Given the description of an element on the screen output the (x, y) to click on. 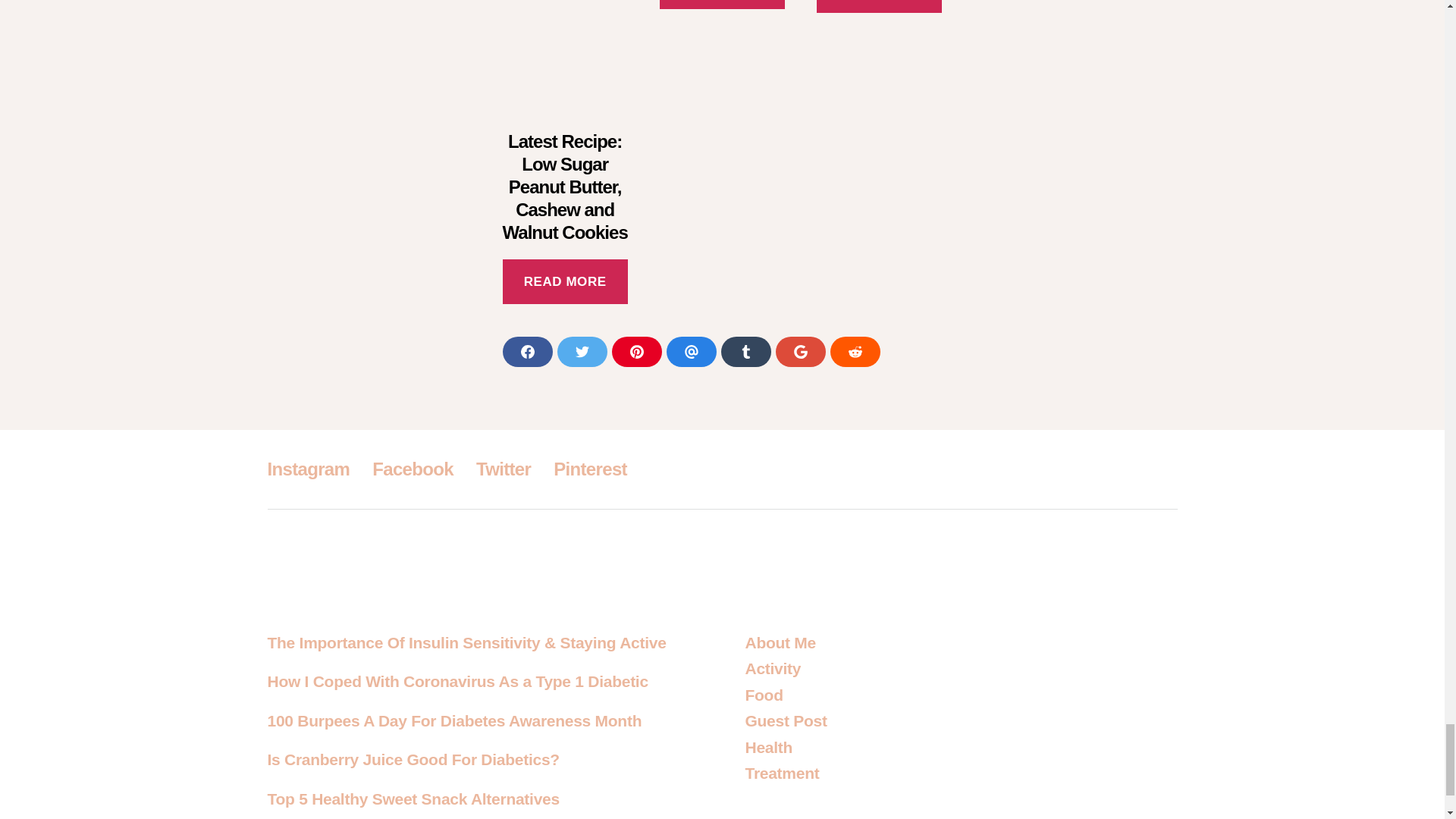
Share on Tumblr (745, 351)
Share on Google (799, 351)
Share on Reddit (854, 351)
Share on Twitter (581, 351)
Share via Email (690, 351)
Share on Facebook (526, 351)
Share on Pinterest (636, 351)
